Given the description of an element on the screen output the (x, y) to click on. 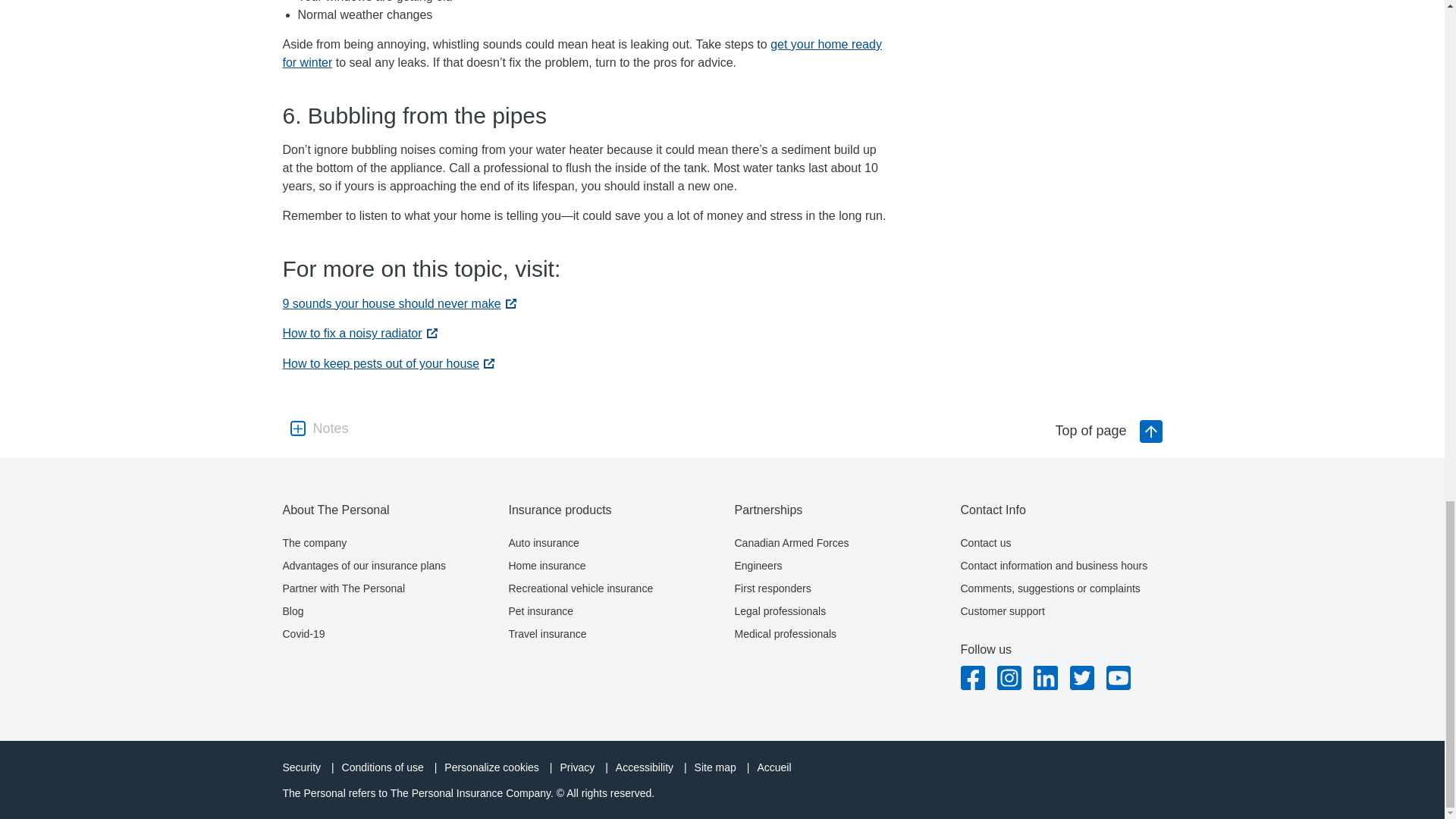
Confirm (722, 101)
